Given the description of an element on the screen output the (x, y) to click on. 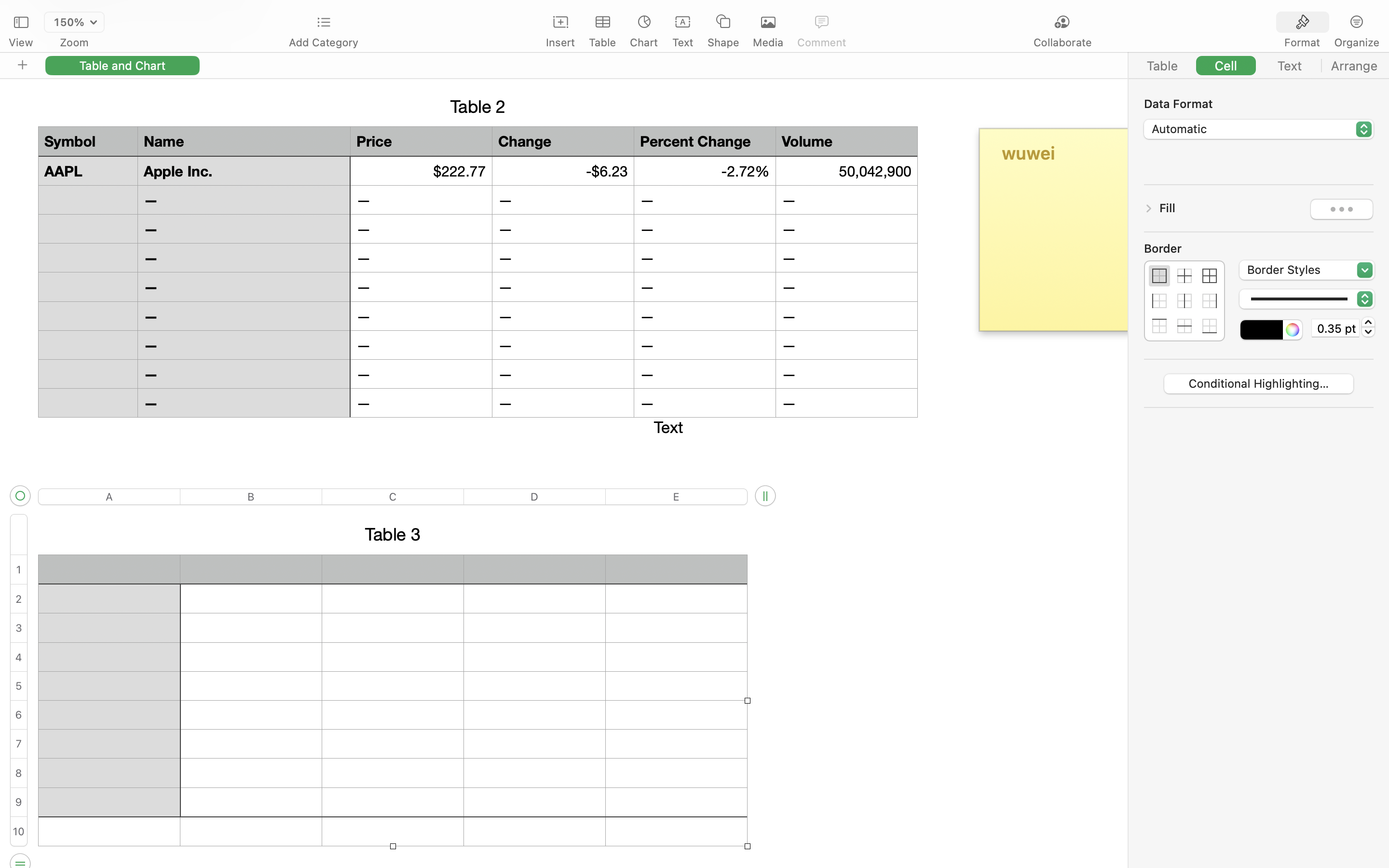
Insert Element type: AXStaticText (560, 42)
Format Element type: AXStaticText (1302, 42)
<AXUIElement 0x155699720> {pid=1420} Element type: AXRadioGroup (1258, 65)
Border Element type: AXStaticText (1184, 248)
Table and Chart Element type: AXStaticText (122, 64)
